Given the description of an element on the screen output the (x, y) to click on. 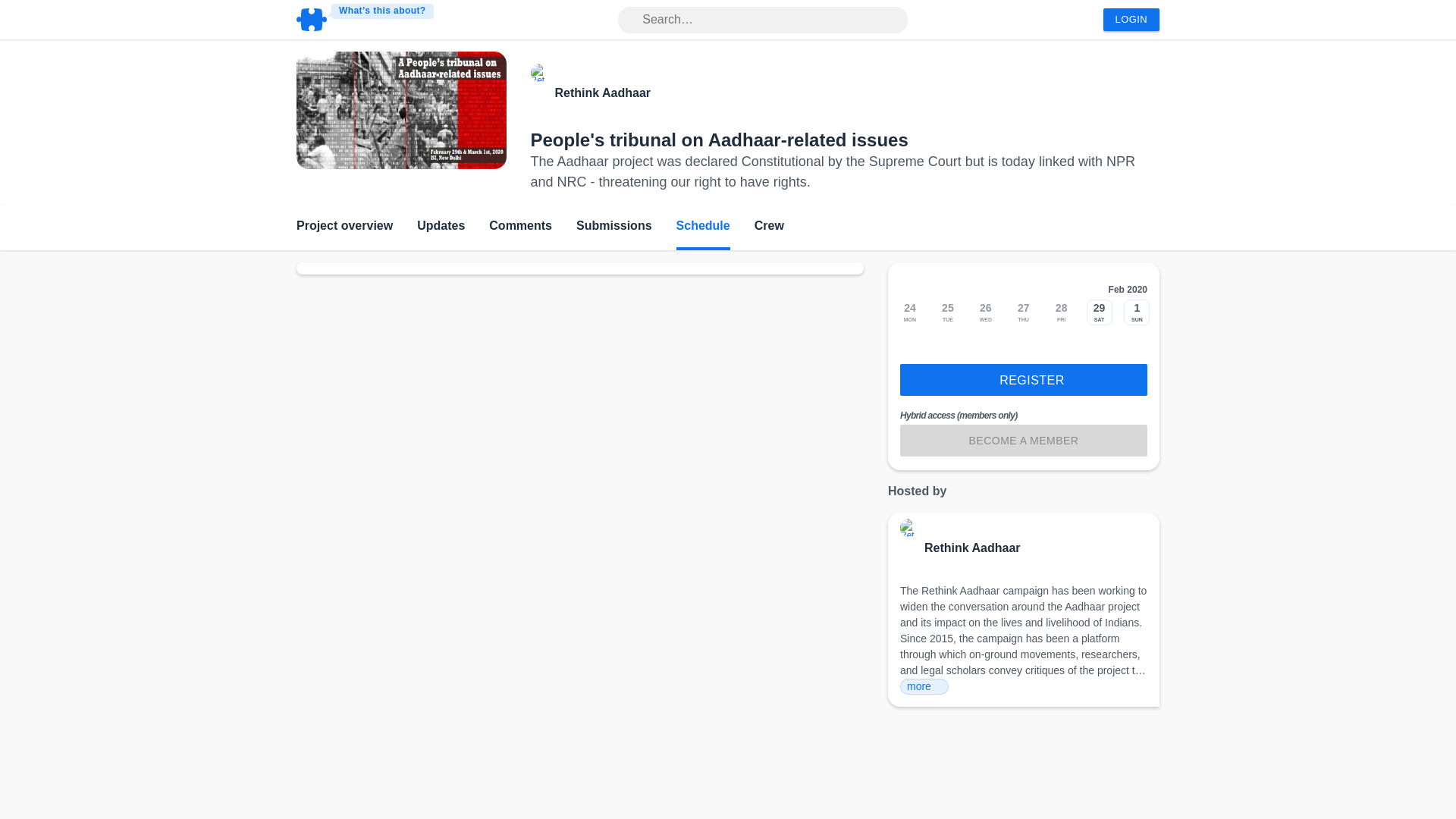
BECOME A MEMBER (1023, 440)
Comments (520, 227)
LOGIN (1130, 19)
Updates (440, 227)
People's tribunal on Aadhaar-related issues (719, 139)
Rethink Aadhaar (972, 547)
Crew (769, 227)
Project overview (345, 227)
Submissions (614, 227)
more (924, 686)
Rethink Aadhaar (602, 92)
Schedule (703, 227)
REGISTER (1023, 379)
